Given the description of an element on the screen output the (x, y) to click on. 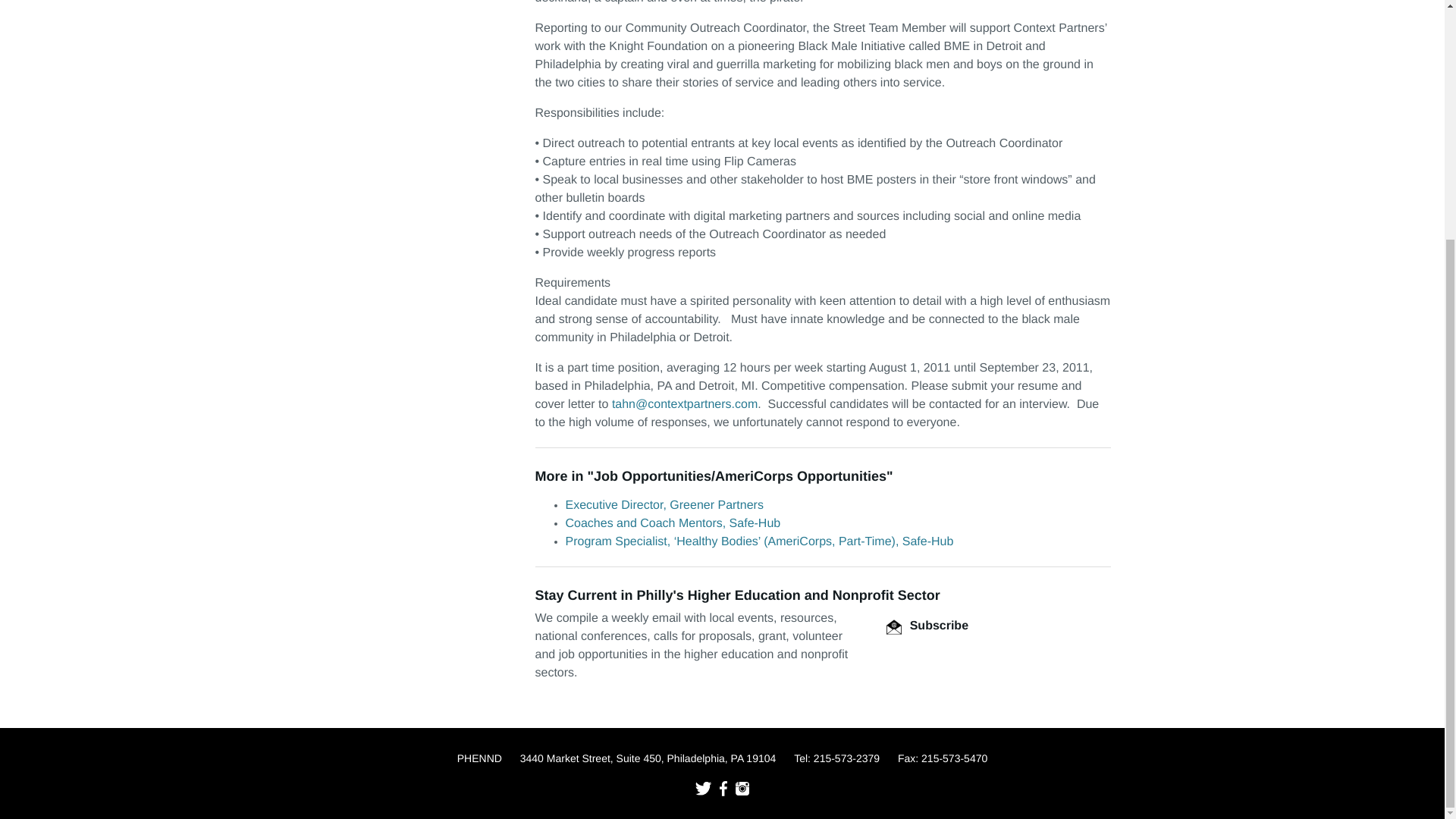
Coaches and Coach Mentors, Safe-Hub (673, 522)
Subscribe (927, 625)
Executive Director, Greener Partners (664, 504)
